Given the description of an element on the screen output the (x, y) to click on. 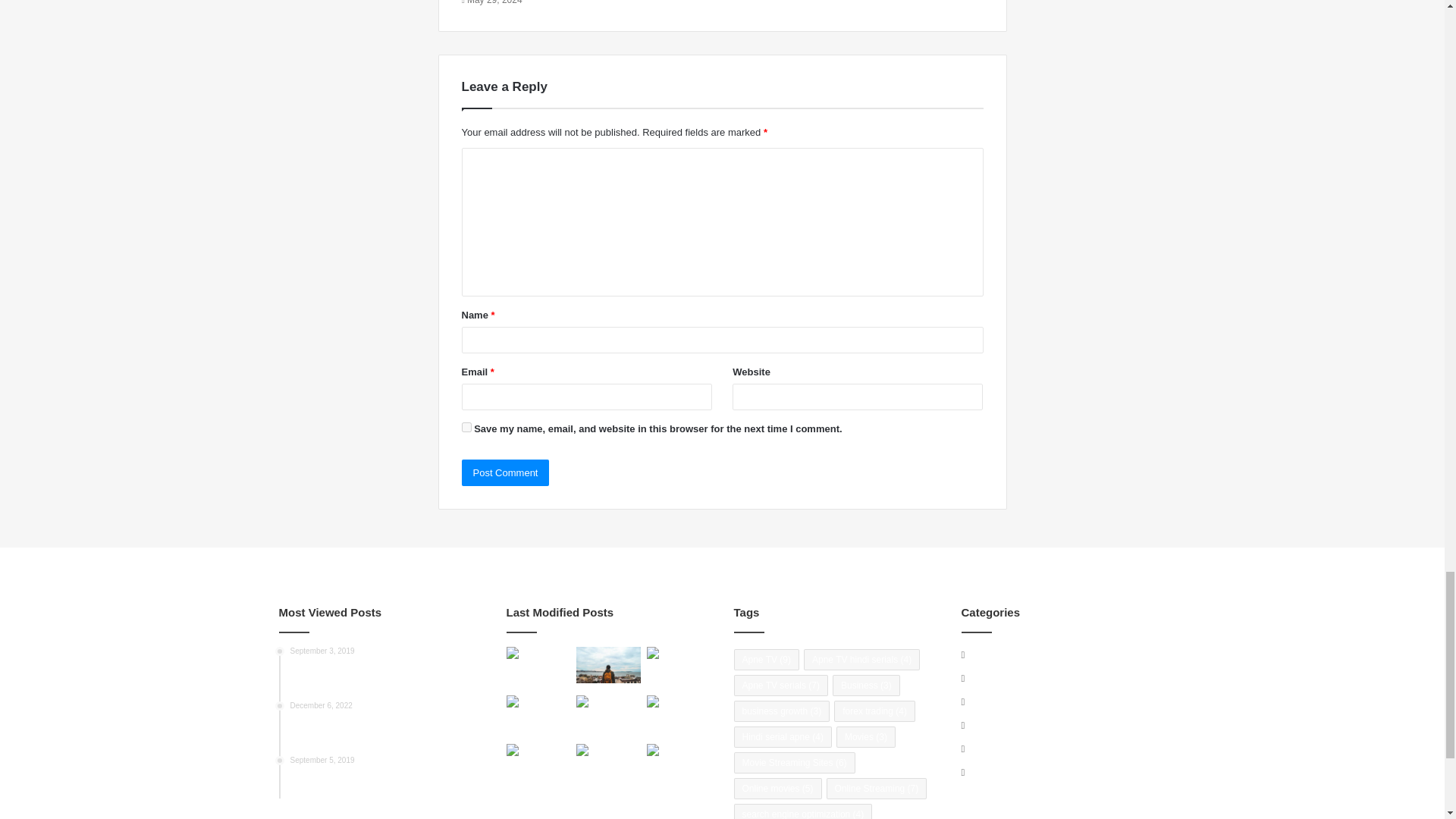
yes (465, 427)
Post Comment (504, 472)
